Given the description of an element on the screen output the (x, y) to click on. 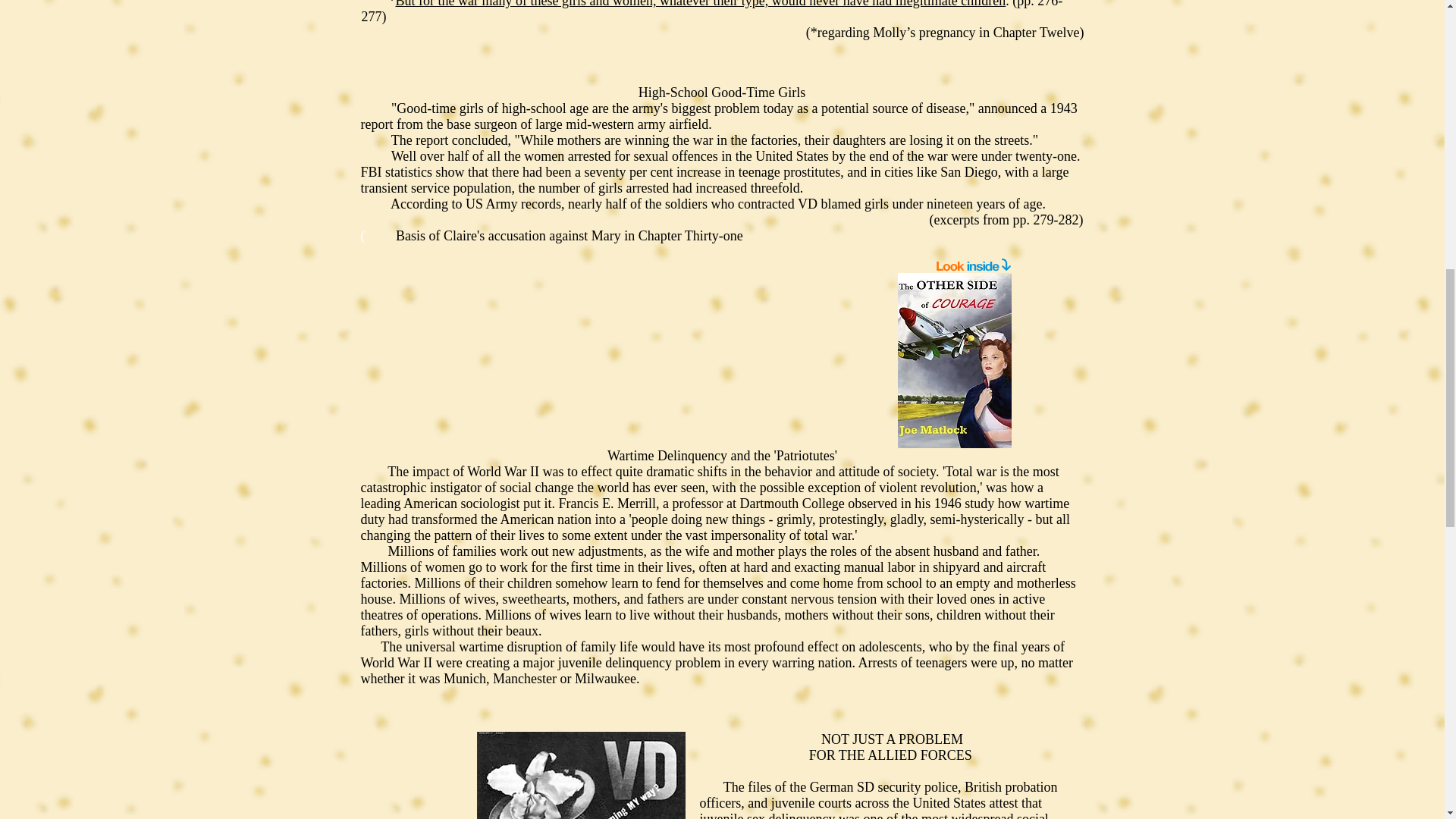
VDposter.jpg (580, 775)
